Given the description of an element on the screen output the (x, y) to click on. 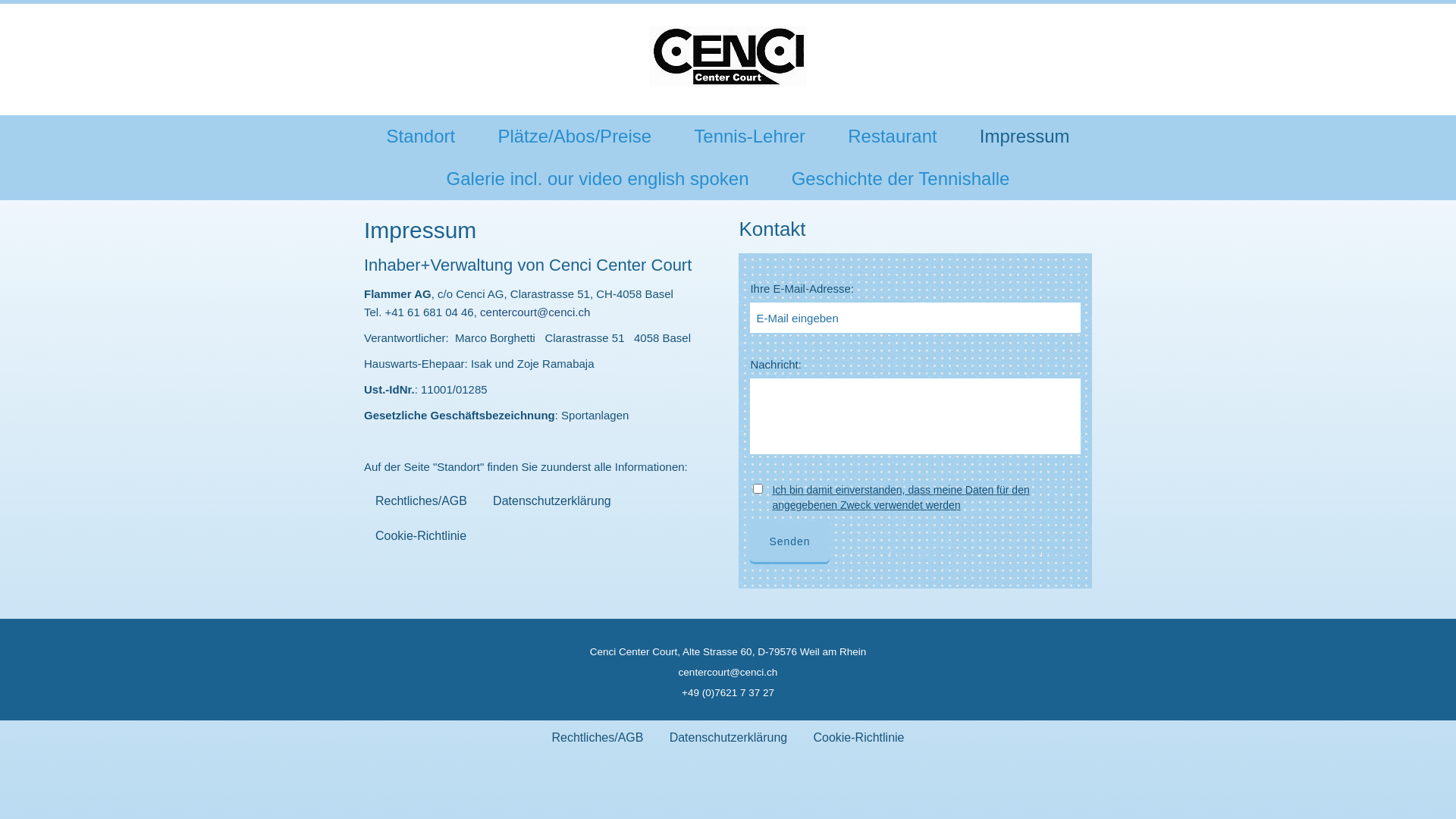
Cookie-Richtlinie Element type: text (420, 535)
Senden Element type: text (788, 540)
Impressum Element type: text (1024, 136)
Tennis-Lehrer Element type: text (749, 136)
Rechtliches/AGB Element type: text (421, 500)
Restaurant Element type: text (892, 136)
Standort Element type: text (420, 136)
Cookie-Richtlinie Element type: text (858, 737)
Geschichte der Tennishalle Element type: text (900, 178)
centercourt@cenci.ch Element type: text (534, 311)
Galerie incl. our video english spoken Element type: text (597, 178)
Rechtliches/AGB Element type: text (597, 737)
centercourt@cenci.ch Element type: text (728, 672)
